Given the description of an element on the screen output the (x, y) to click on. 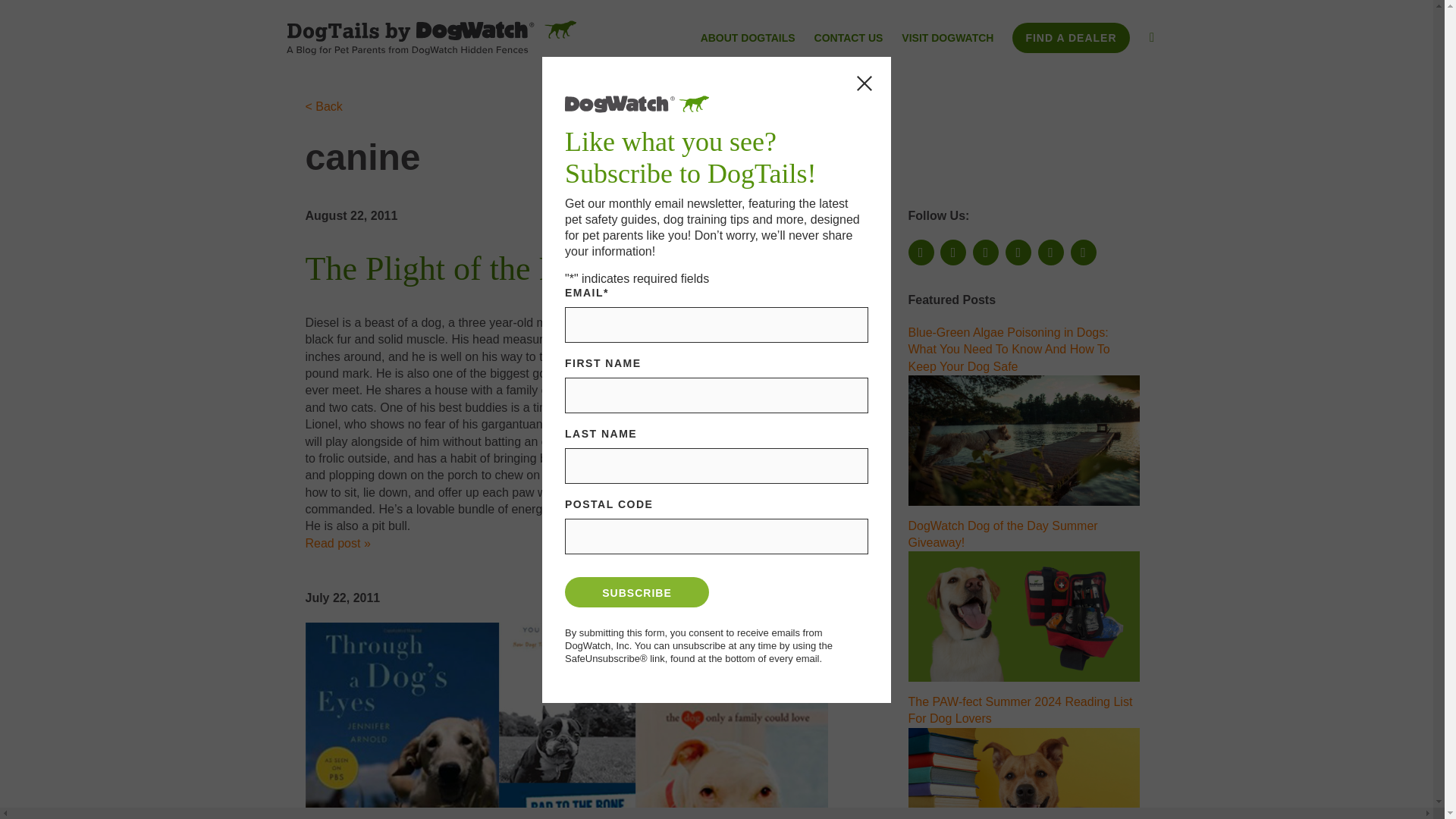
DogWatch Hidden Fence Systems Rss (1018, 252)
Find a Dealer (1070, 37)
ABOUT DOGTAILS (747, 38)
DogWatch (431, 37)
CONTACT US (848, 38)
DogWatch Dog of the Day Summer Giveaway! (1024, 616)
VISIT DOGWATCH (946, 38)
The PAW-fect Summer 2024 Reading List For Dog Lovers (1020, 709)
DogWatch Hidden Fence Twitter Facebook (953, 252)
Contact Us (848, 38)
The Plight of the Pit Bull (473, 268)
FIND A DEALER (1070, 37)
Subscribe (636, 592)
DogWatch Dog of the Day Summer Giveaway! (1002, 532)
The PAW-fect Summer 2024 Reading List For Dog Lovers (1024, 773)
